Given the description of an element on the screen output the (x, y) to click on. 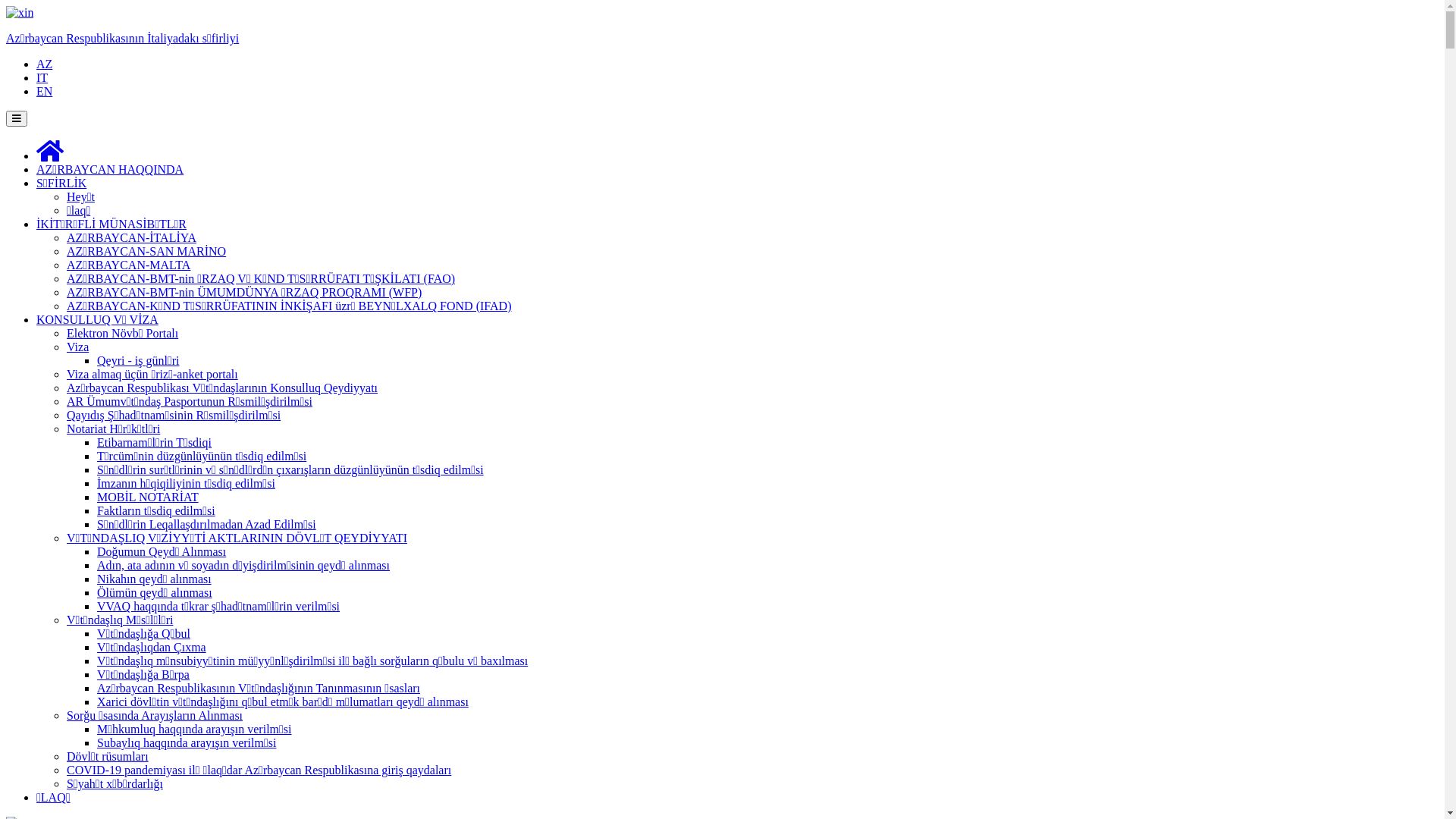
EN Element type: text (44, 90)
AZ Element type: text (44, 63)
IT Element type: text (41, 77)
Viza Element type: text (77, 346)
